Given the description of an element on the screen output the (x, y) to click on. 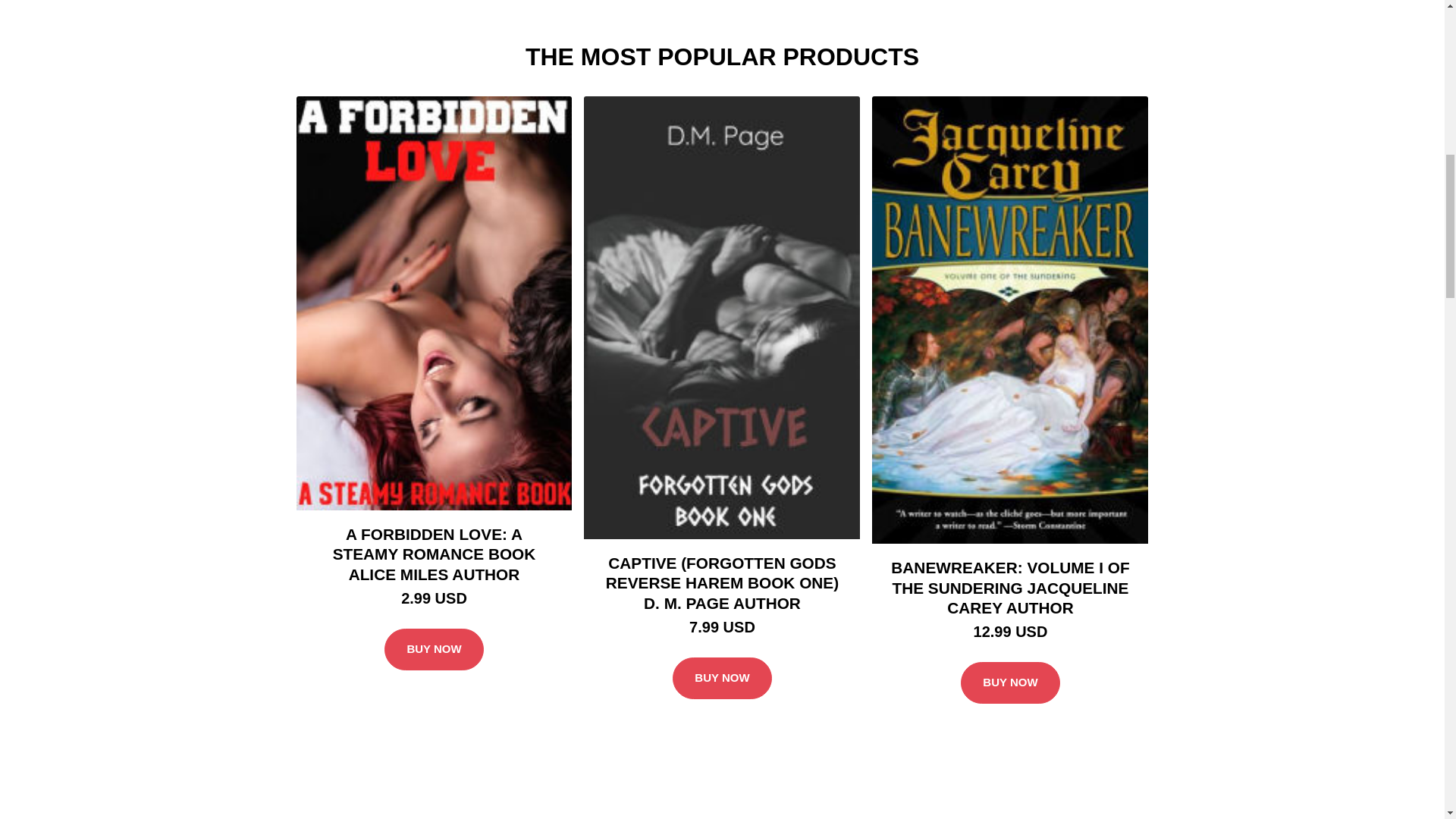
BUY NOW (721, 678)
BUY NOW (1009, 682)
BUY NOW (433, 649)
A FORBIDDEN LOVE: A STEAMY ROMANCE BOOK ALICE MILES AUTHOR (434, 554)
